Given the description of an element on the screen output the (x, y) to click on. 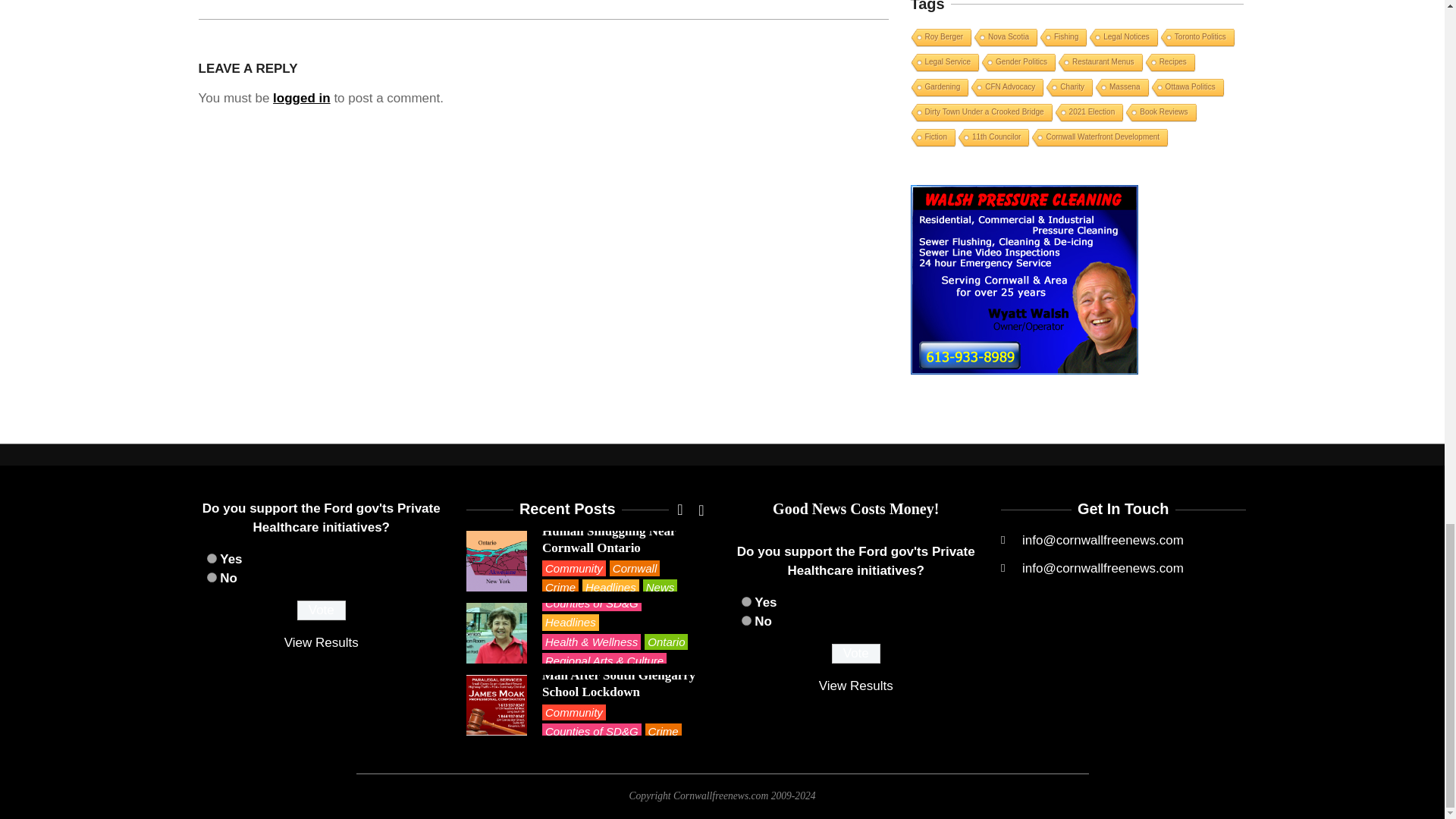
View Results Of This Poll (855, 685)
1777 (210, 577)
1776 (746, 601)
   Vote    (855, 653)
   Vote    (321, 609)
1777 (746, 620)
1776 (210, 558)
View Results Of This Poll (320, 642)
